Given the description of an element on the screen output the (x, y) to click on. 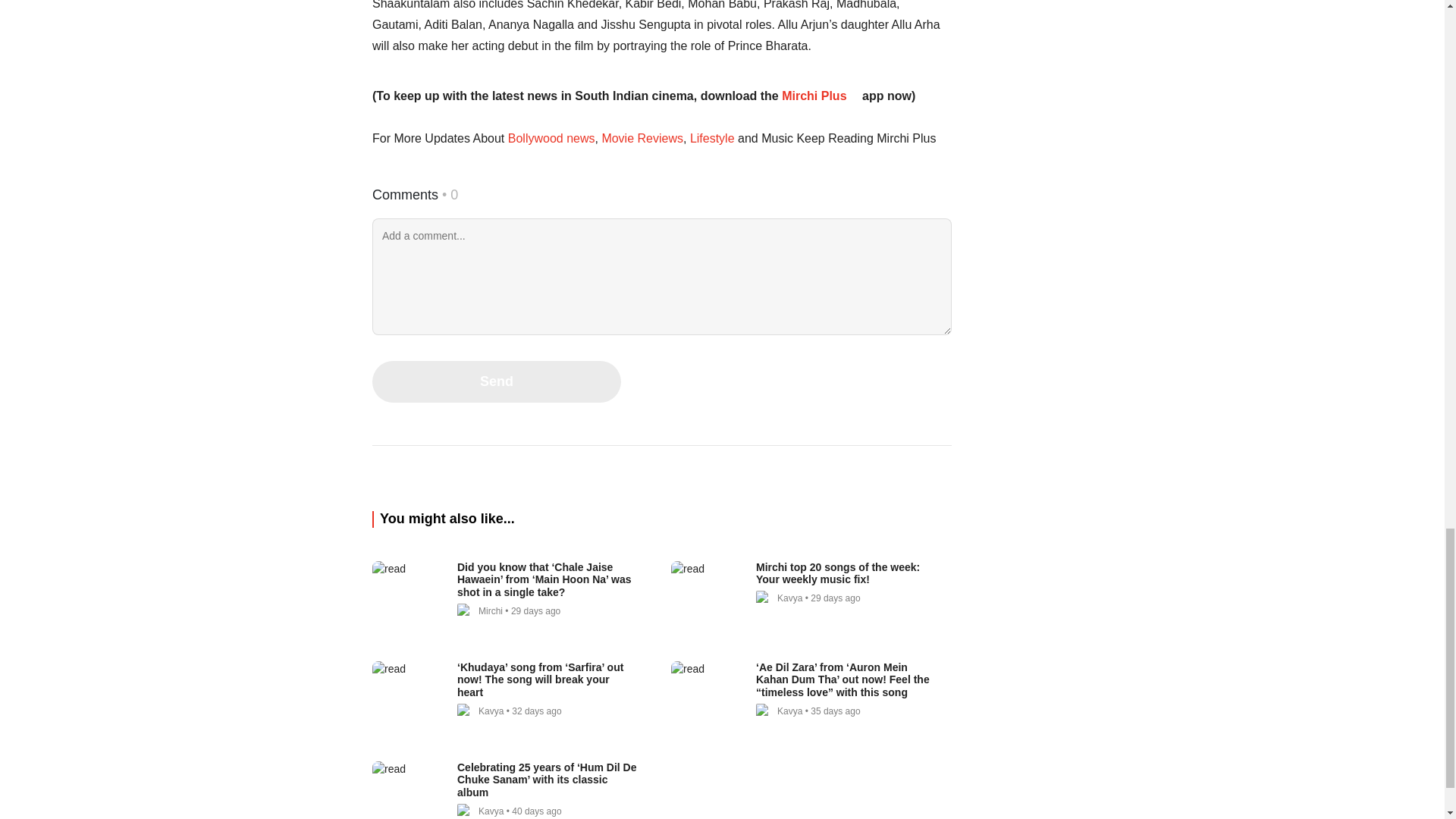
Bollywood news (550, 137)
Lifestyle (710, 137)
Movie Reviews (641, 137)
